Given the description of an element on the screen output the (x, y) to click on. 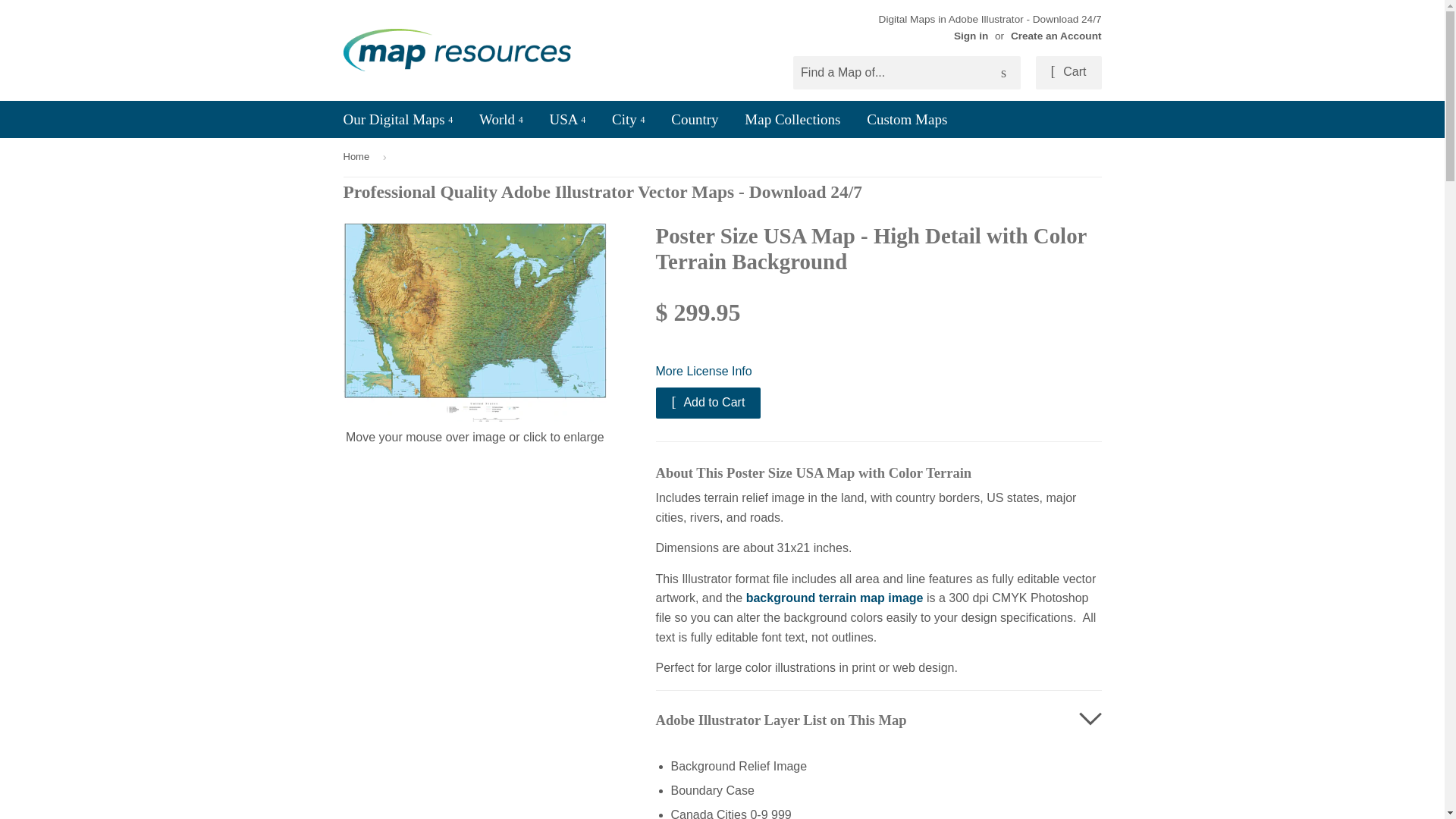
USA (567, 118)
Map Collections (792, 118)
Add to Cart (707, 402)
World (500, 118)
Our Digital Maps (397, 118)
Create an Account (1056, 35)
More License Info (877, 371)
Custom Maps (907, 118)
Sign in (970, 35)
background terrain map image (834, 597)
Home (358, 157)
Back to the frontpage (358, 157)
City (627, 118)
Search (1003, 73)
